Given the description of an element on the screen output the (x, y) to click on. 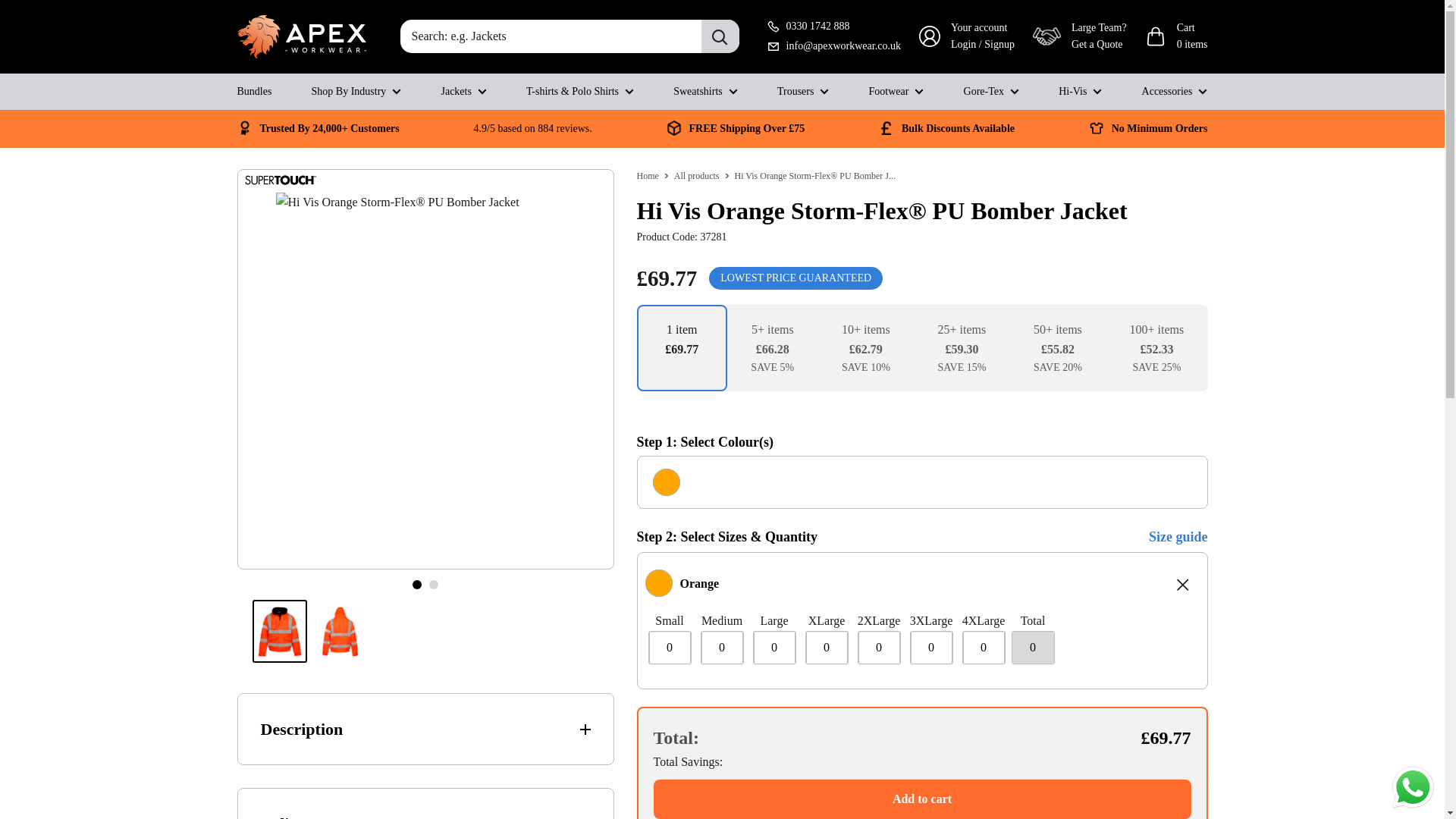
Orange (658, 583)
0 (931, 647)
0 (774, 647)
0 (879, 647)
0 (983, 647)
0 (826, 647)
Orange (665, 482)
0 (669, 647)
0 (1031, 647)
0 (721, 647)
